Given the description of an element on the screen output the (x, y) to click on. 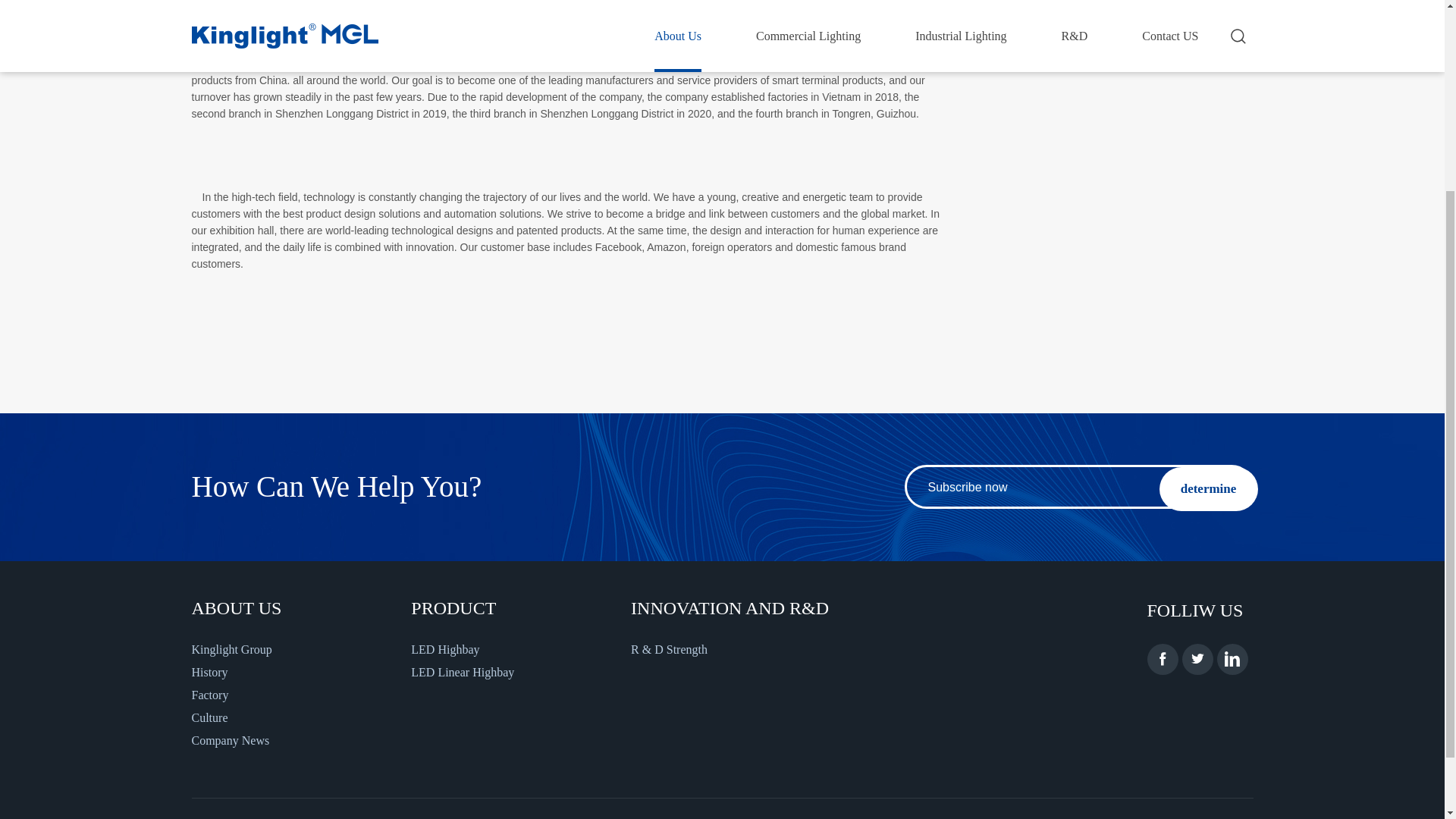
Kinglight Group (300, 649)
History (300, 671)
Return (1199, 30)
